Given the description of an element on the screen output the (x, y) to click on. 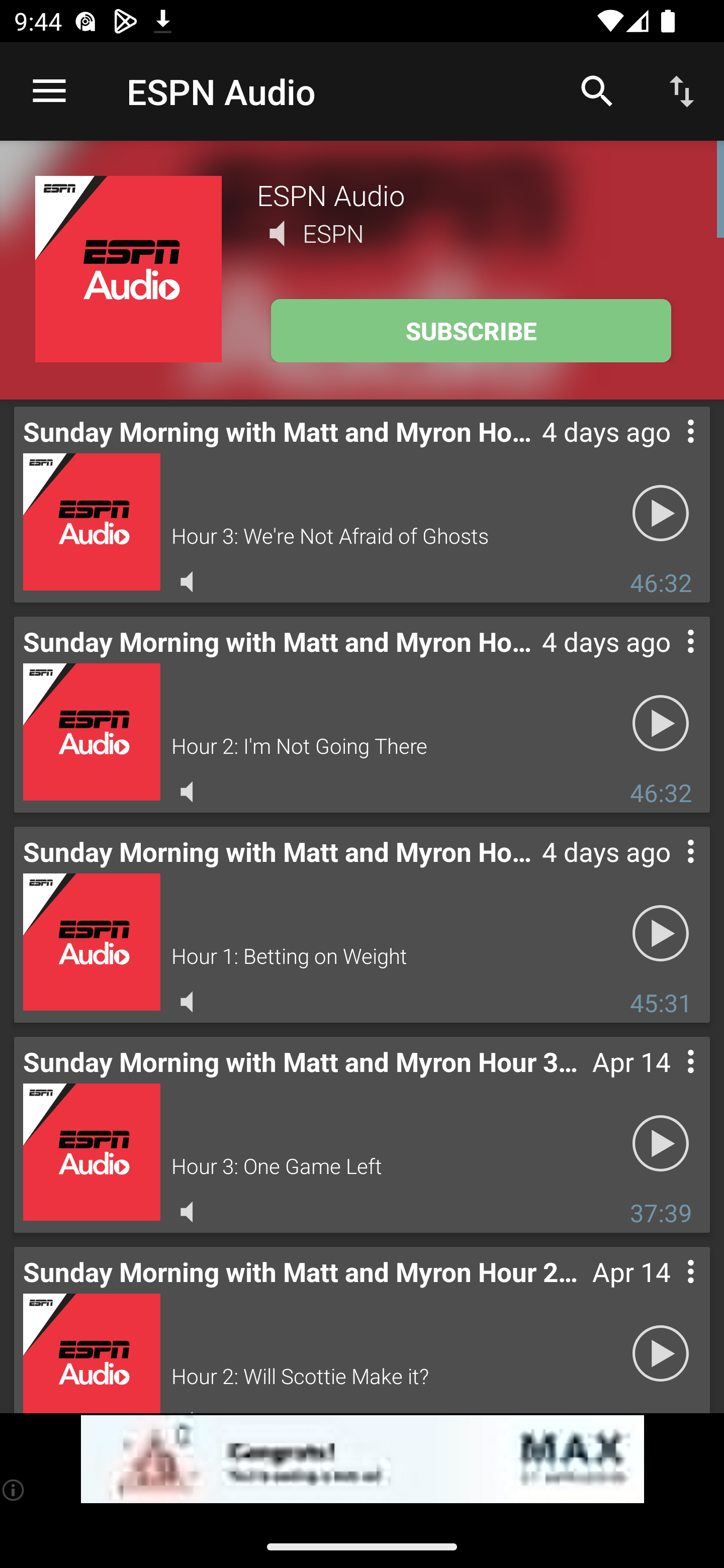
Open navigation sidebar (49, 91)
Search (597, 90)
Sort (681, 90)
SUBSCRIBE (470, 330)
Contextual menu (668, 451)
Play (660, 513)
Contextual menu (668, 661)
Play (660, 723)
Contextual menu (668, 870)
Play (660, 933)
Contextual menu (668, 1080)
Play (660, 1143)
Contextual menu (668, 1290)
Play (660, 1353)
app-monetization (362, 1459)
(i) (14, 1489)
